Given the description of an element on the screen output the (x, y) to click on. 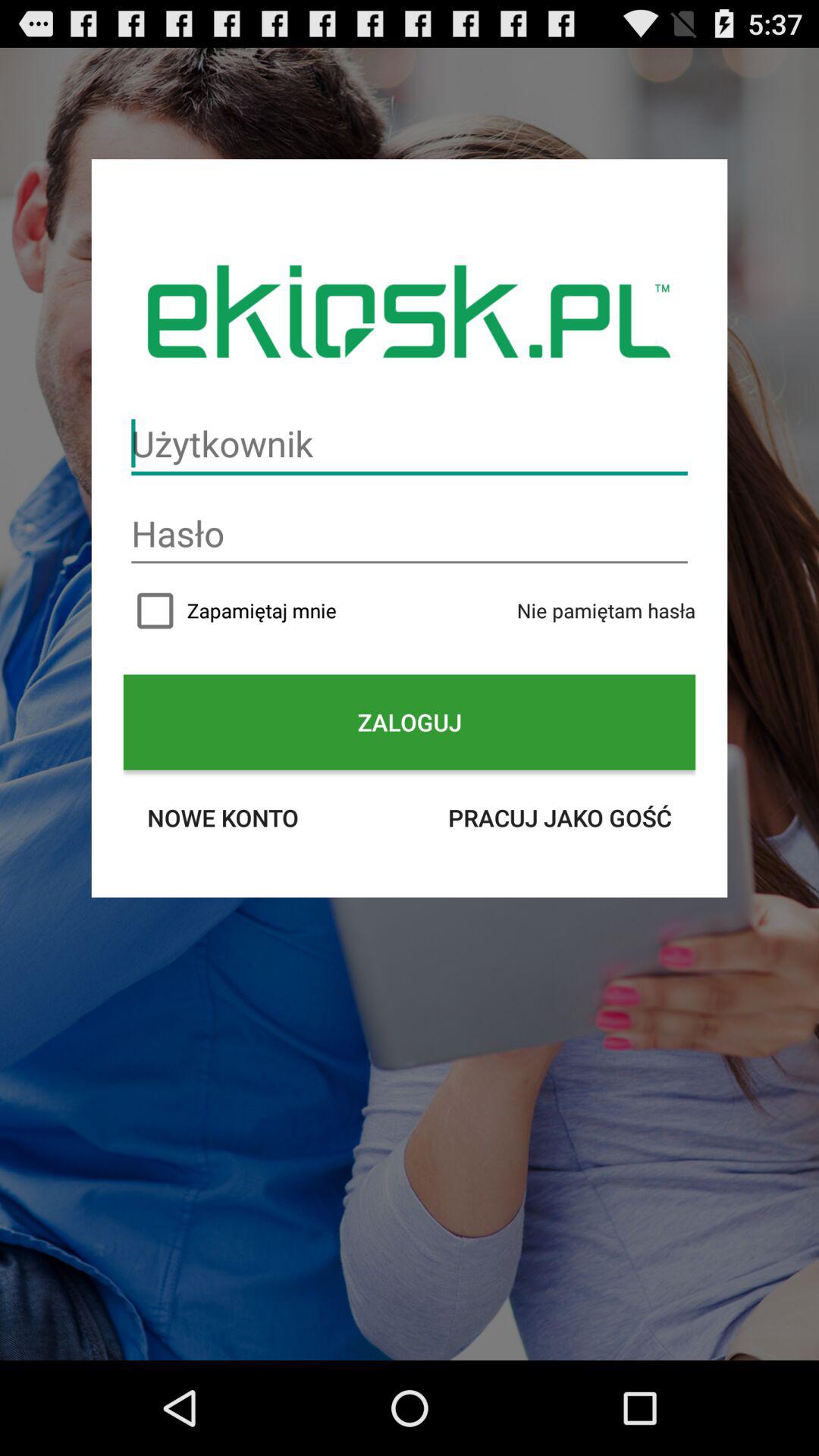
turn off icon on the left (222, 817)
